Given the description of an element on the screen output the (x, y) to click on. 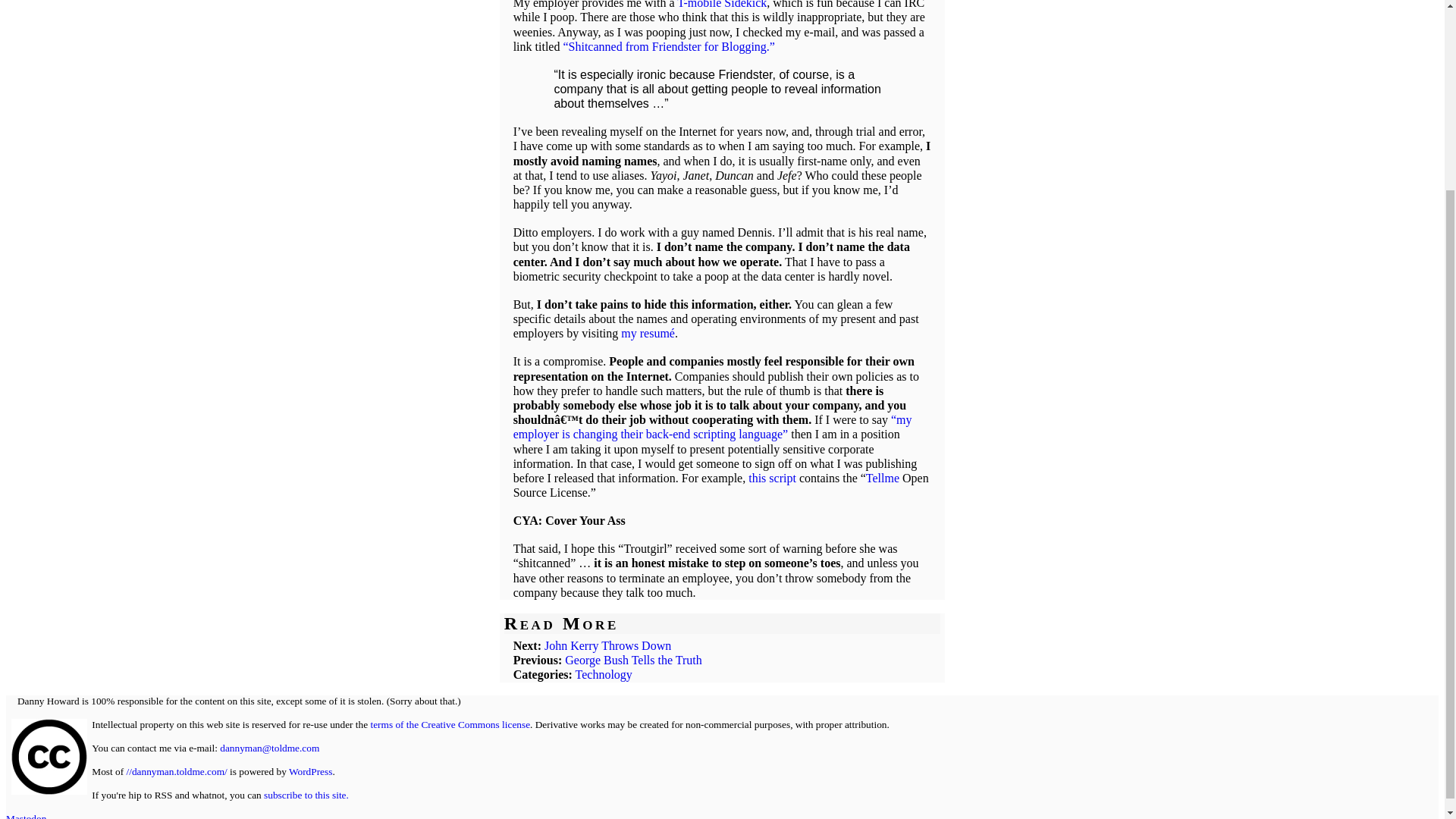
George Bush Tells the Truth (632, 659)
WordPress (309, 771)
terms of the Creative Commons license (449, 724)
subscribe to this site. (306, 794)
this script (772, 477)
Tellme (882, 477)
T-mobile Sidekick (722, 4)
John Kerry Throws Down (607, 645)
Technology (603, 674)
